Given the description of an element on the screen output the (x, y) to click on. 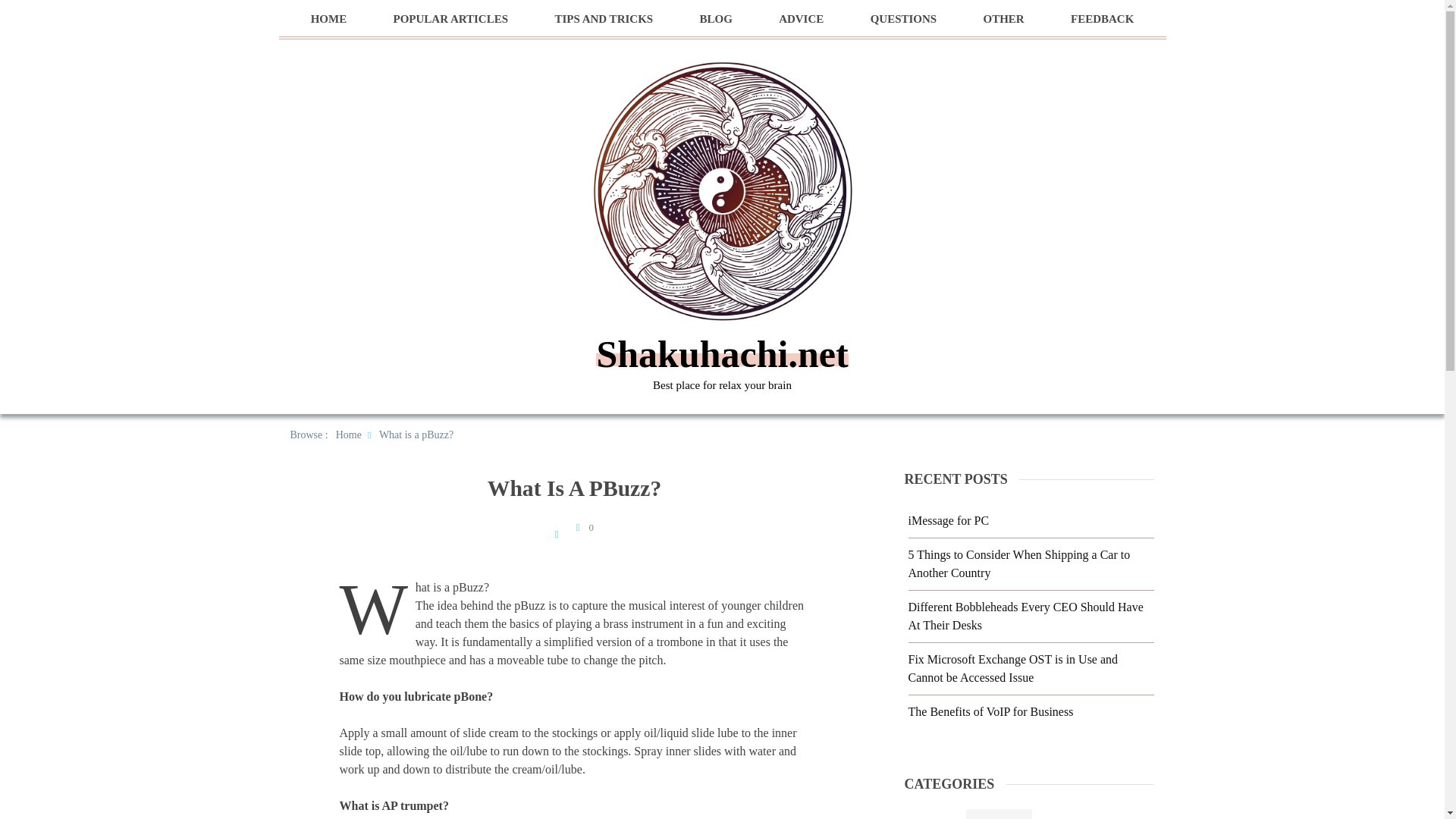
Blog (999, 814)
ADVICE (801, 19)
Home (348, 434)
Different Bobbleheads Every CEO Should Have At Their Desks (1025, 615)
The Benefits of VoIP for Business (991, 711)
BLOG (715, 19)
HOME (328, 19)
OTHER (1003, 19)
5 Things to Consider When Shipping a Car to Another Country (1019, 563)
iMessage for PC (949, 520)
QUESTIONS (904, 19)
TIPS AND TRICKS (603, 19)
Shakuhachi.net (721, 353)
POPULAR ARTICLES (450, 19)
